Given the description of an element on the screen output the (x, y) to click on. 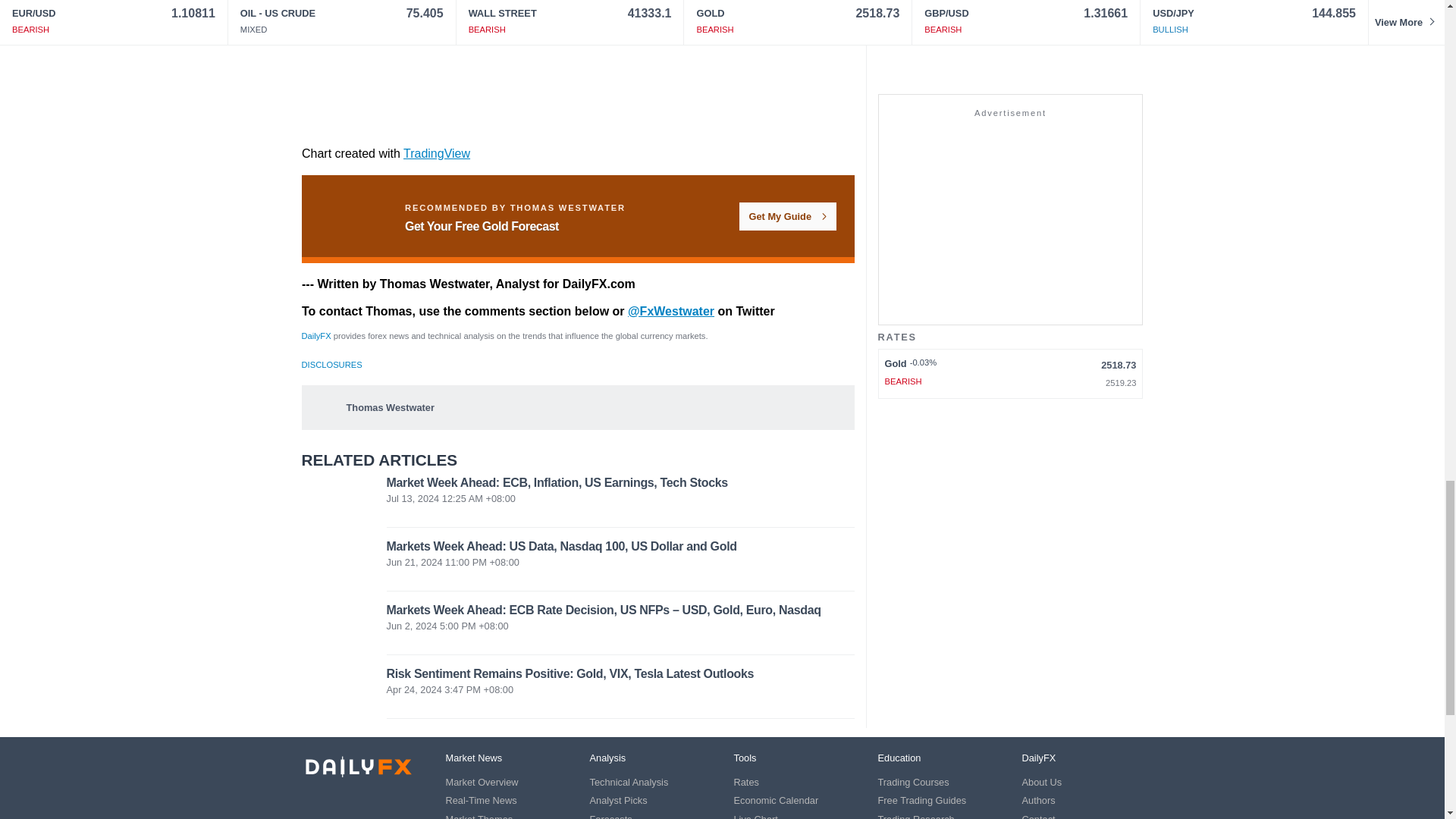
Rates (745, 781)
Tools (745, 757)
Live Chart (755, 816)
Market News (473, 757)
Forecasts (610, 816)
Technical Analysis (628, 781)
Real-Time News (480, 799)
Analysis (607, 757)
Market Themes (479, 816)
Market Overview (481, 781)
